Given the description of an element on the screen output the (x, y) to click on. 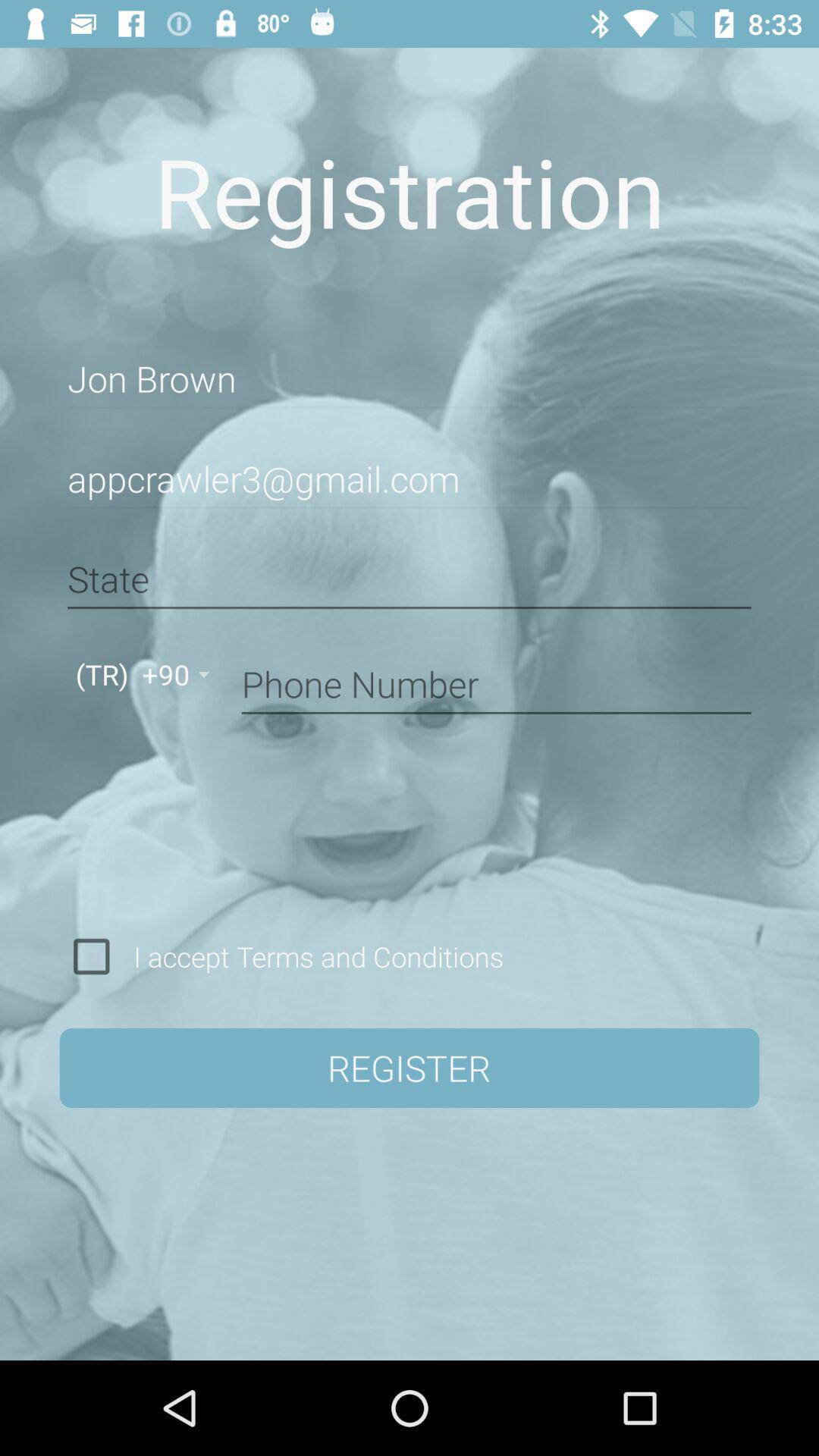
jump until the appcrawler3@gmail.com item (409, 479)
